Given the description of an element on the screen output the (x, y) to click on. 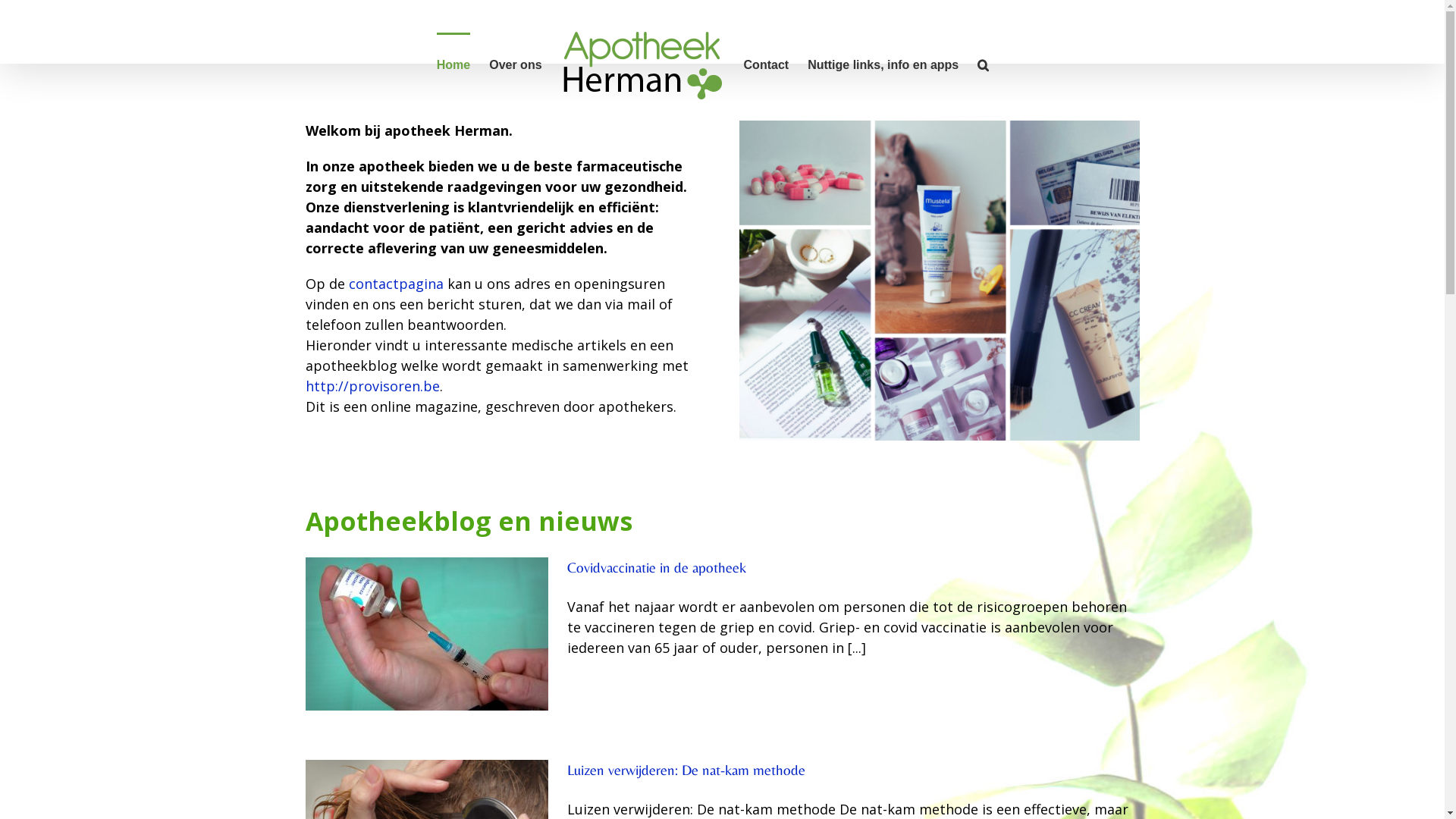
Zoeken Element type: hover (982, 63)
Luizen verwijderen: De nat-kam methode Element type: text (686, 769)
Home Element type: text (535, 31)
collage herman Element type: hover (938, 280)
Nuttige links, info en apps Element type: text (882, 63)
contactpagina Element type: text (395, 283)
http://provisoren.be Element type: text (371, 385)
Contact Element type: text (766, 63)
Covidvaccinatie in de apotheek Element type: text (656, 566)
Over ons Element type: text (597, 31)
